Given the description of an element on the screen output the (x, y) to click on. 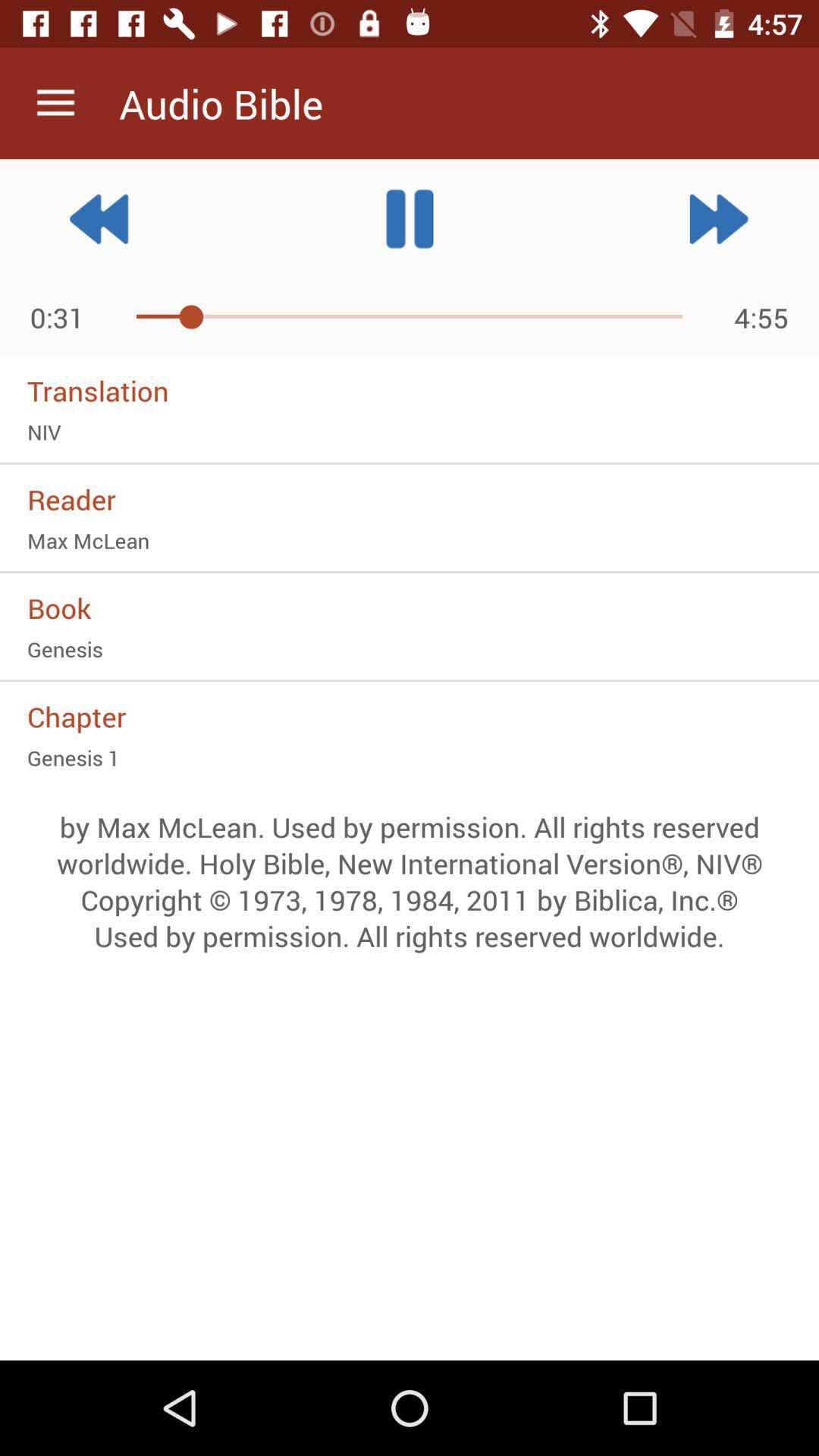
choose the book icon (409, 607)
